Given the description of an element on the screen output the (x, y) to click on. 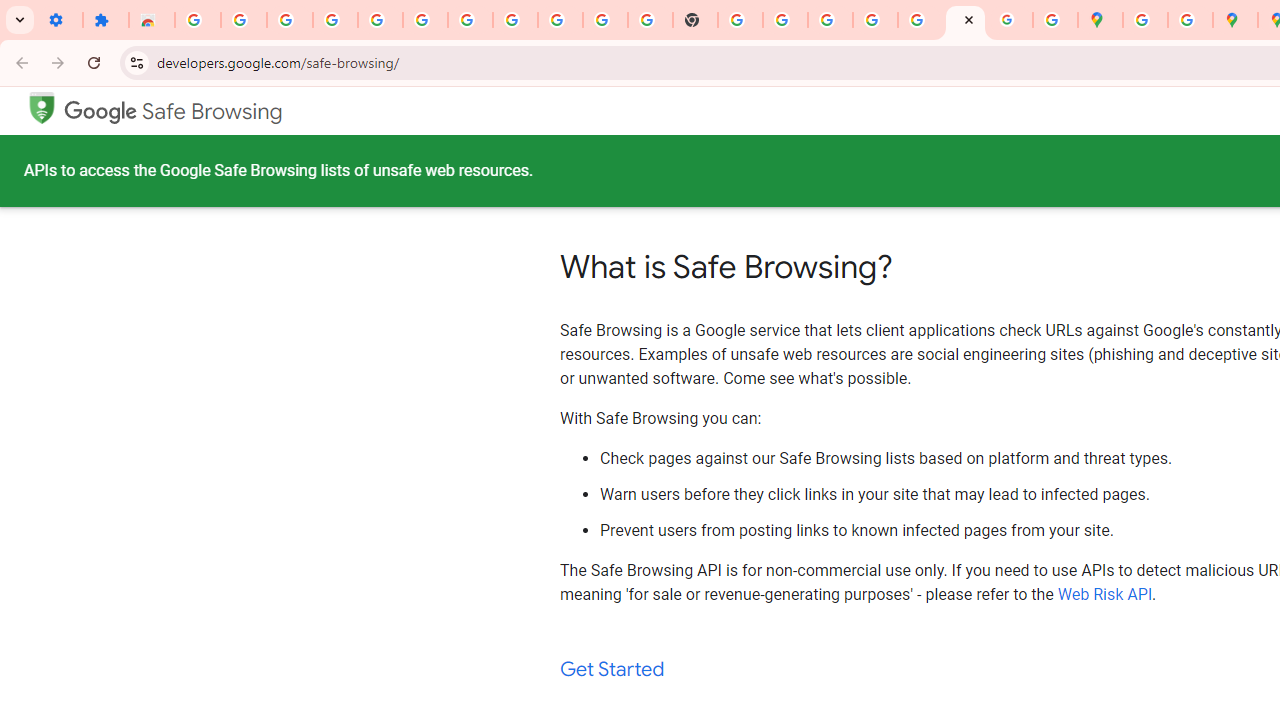
Google (101, 111)
Reviews: Helix Fruit Jump Arcade Game (152, 20)
Settings - On startup (60, 20)
Sign in - Google Accounts (198, 20)
Sign in - Google Accounts (875, 20)
